Given the description of an element on the screen output the (x, y) to click on. 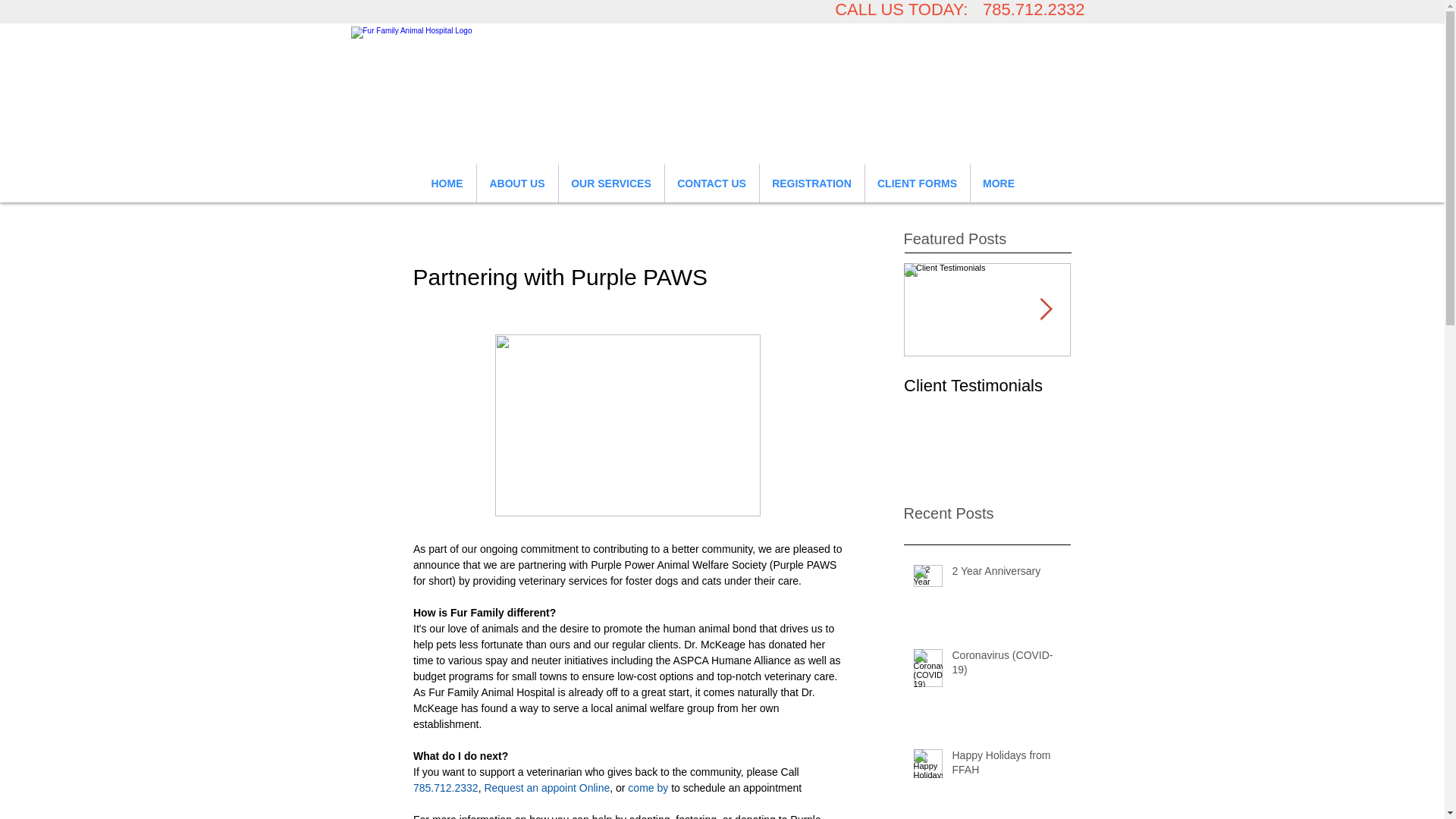
HOME (447, 183)
CLIENT FORMS (916, 183)
Request an appoint Online (546, 787)
REGISTRATION (812, 183)
OUR SERVICES (610, 183)
Client Testimonials (987, 385)
Hospital Tour (1153, 385)
2 Year Anniversary (1006, 574)
come by (647, 787)
CONTACT US (710, 183)
